Given the description of an element on the screen output the (x, y) to click on. 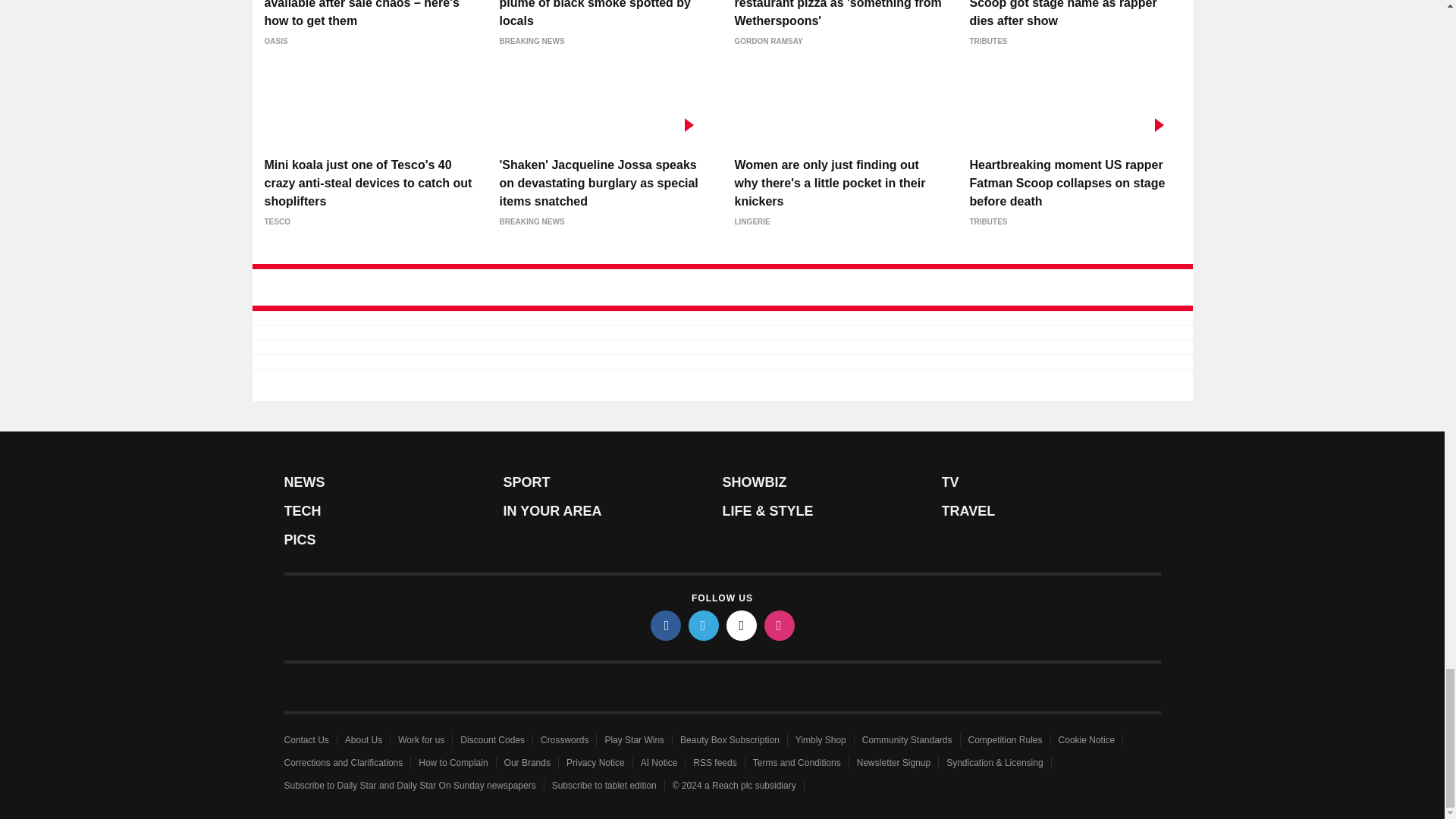
instagram (779, 625)
facebook (665, 625)
twitter (703, 625)
tiktok (741, 625)
